Given the description of an element on the screen output the (x, y) to click on. 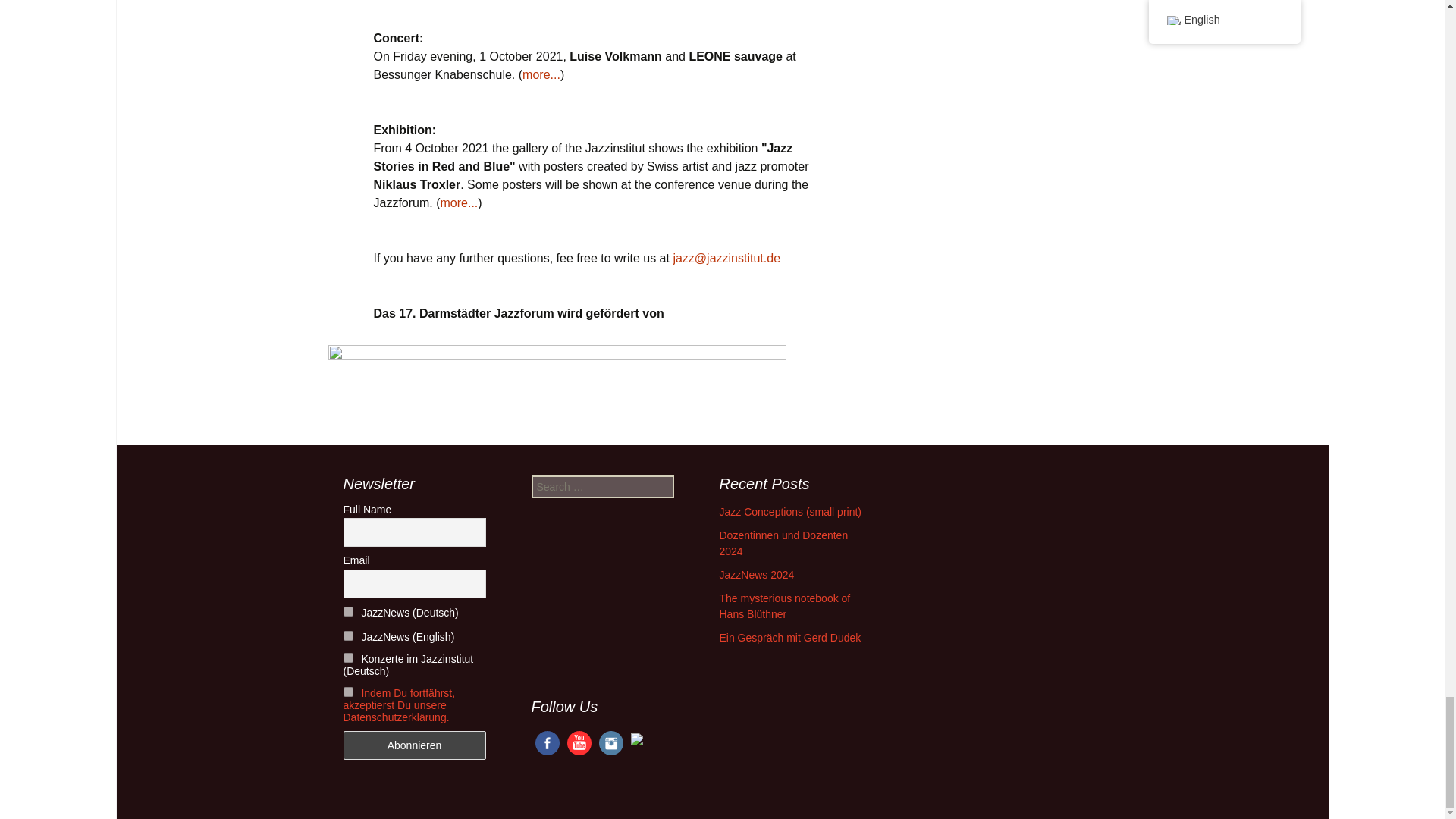
3 (347, 657)
2 (347, 635)
1 (347, 611)
on (347, 691)
Abonnieren (413, 745)
